Given the description of an element on the screen output the (x, y) to click on. 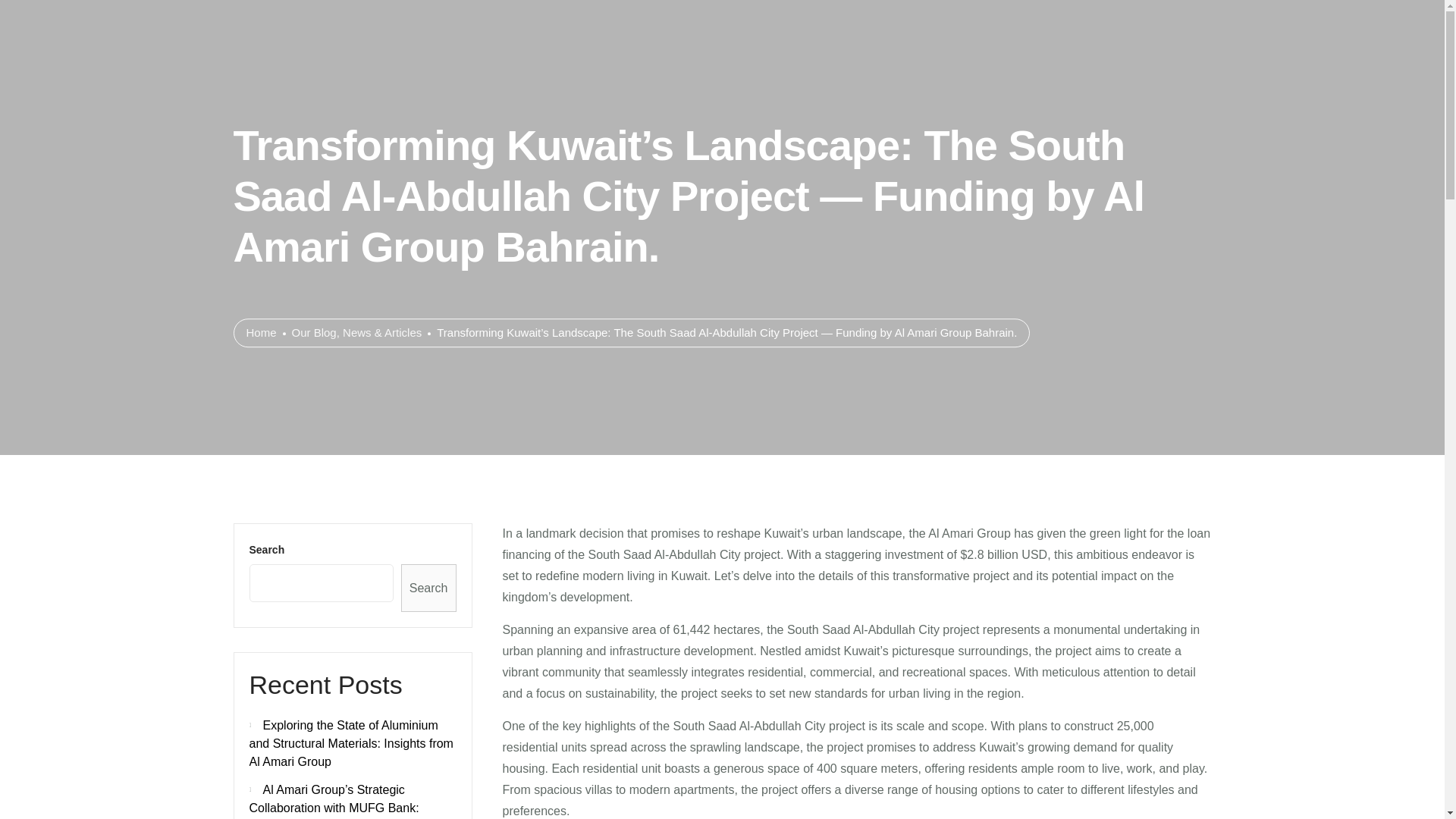
Home (261, 332)
Search (429, 587)
